Given the description of an element on the screen output the (x, y) to click on. 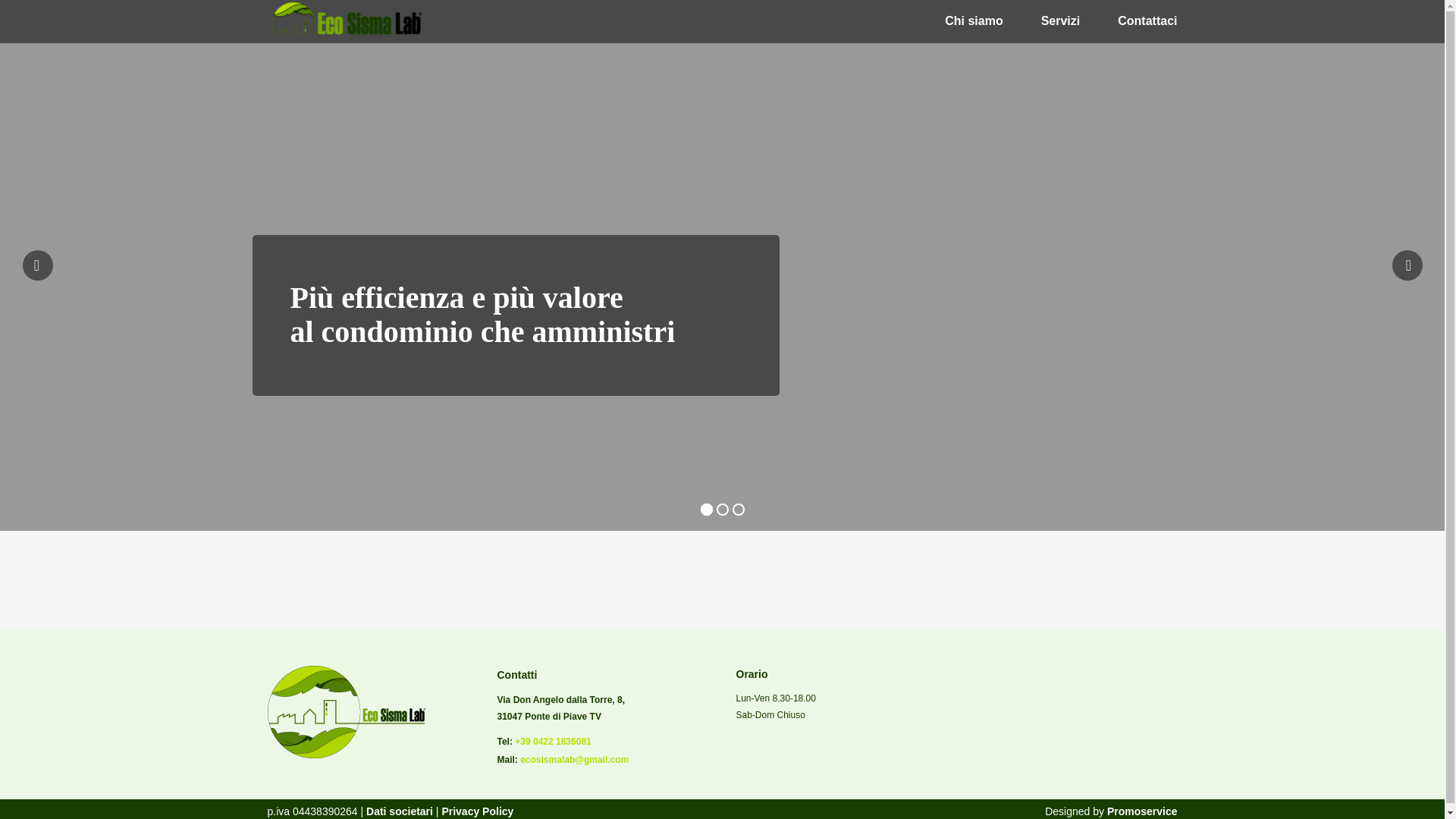
Servizi (1060, 20)
Chi siamo (973, 20)
Contattaci (1147, 20)
Dati societari (397, 811)
Promoservice (1141, 811)
Privacy Policy (477, 811)
